Given the description of an element on the screen output the (x, y) to click on. 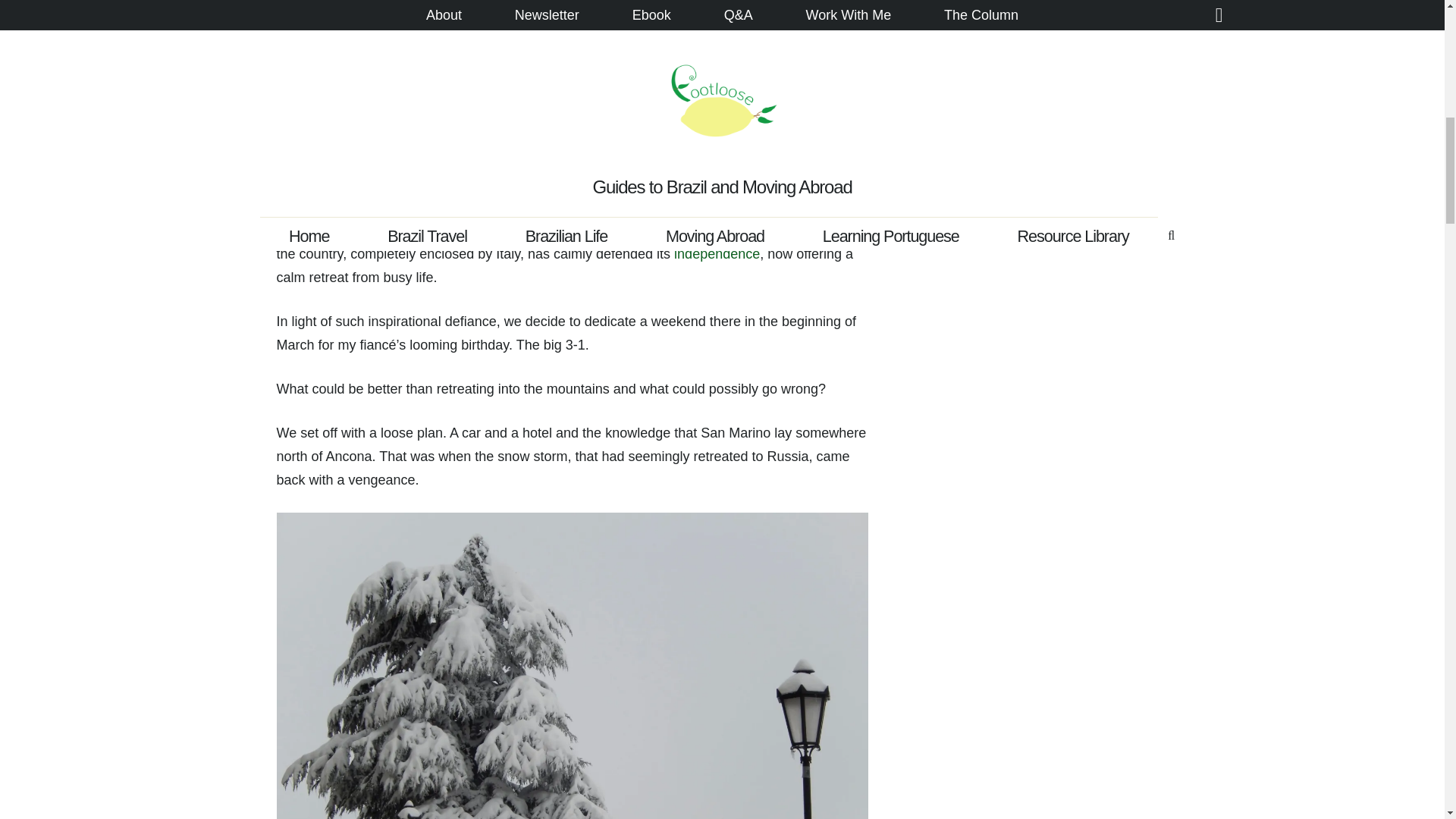
301 AD (537, 206)
independence (717, 253)
Back to top (1413, 26)
